Given the description of an element on the screen output the (x, y) to click on. 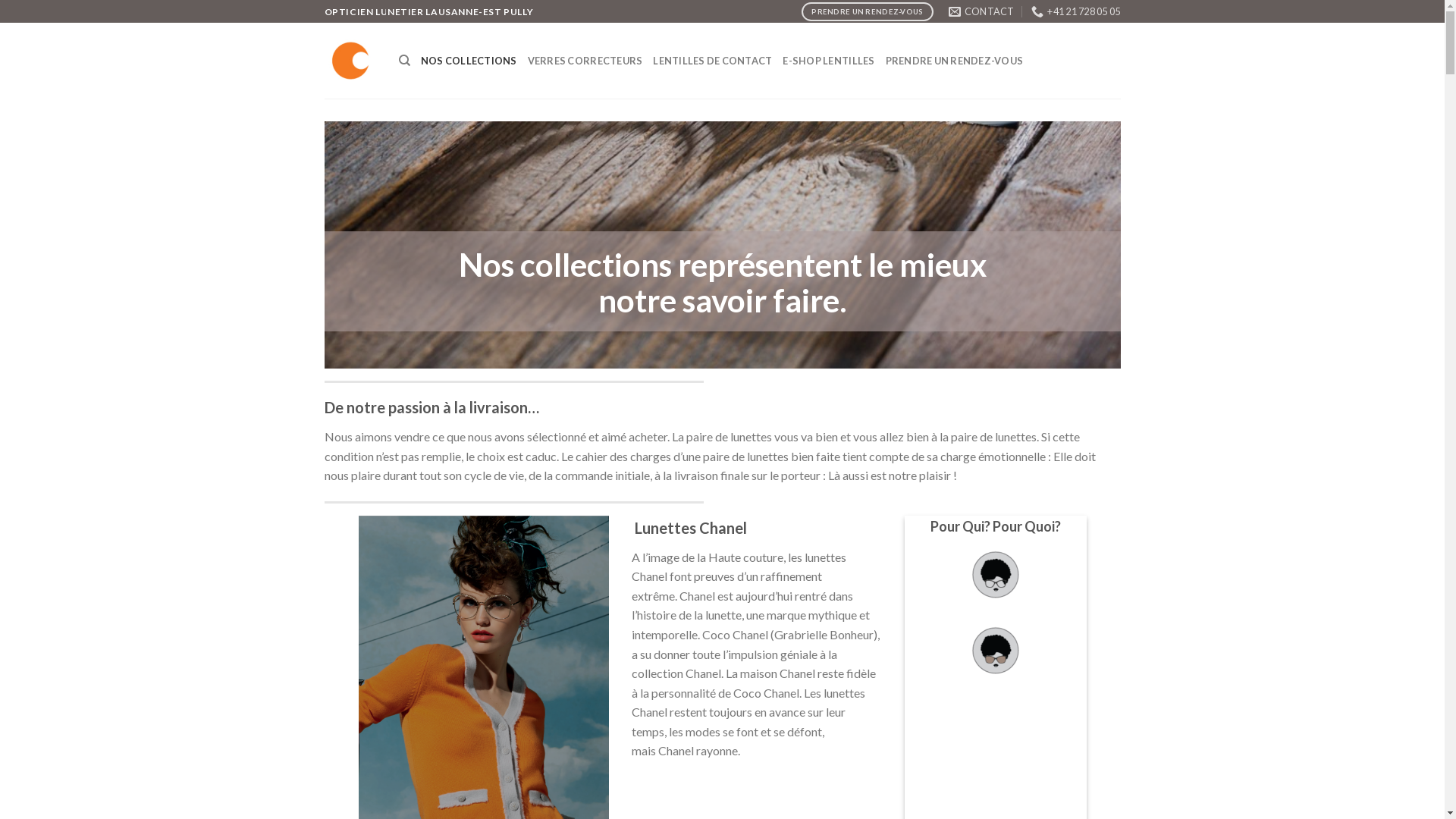
PRENDRE UN RENDEZ-VOUS Element type: text (867, 11)
CONTACT Element type: text (981, 11)
PRENDRE UN RENDEZ-VOUS Element type: text (954, 60)
NOS COLLECTIONS Element type: text (468, 60)
VERRES CORRECTEURS Element type: text (585, 60)
LENTILLES DE CONTACT Element type: text (711, 60)
+41 21 728 05 05 Element type: text (1075, 11)
E-SHOP LENTILLES Element type: text (828, 60)
